Given the description of an element on the screen output the (x, y) to click on. 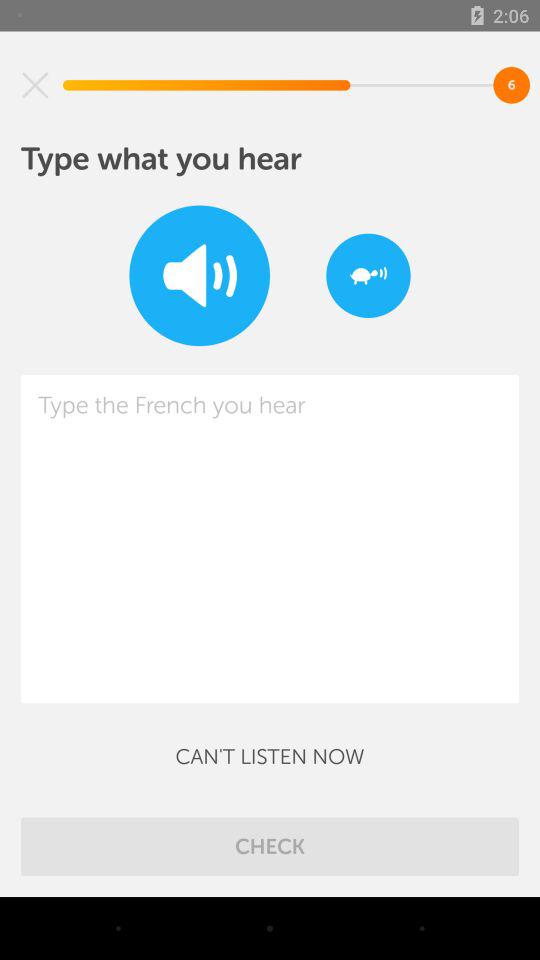
select item at the top left corner (35, 85)
